Given the description of an element on the screen output the (x, y) to click on. 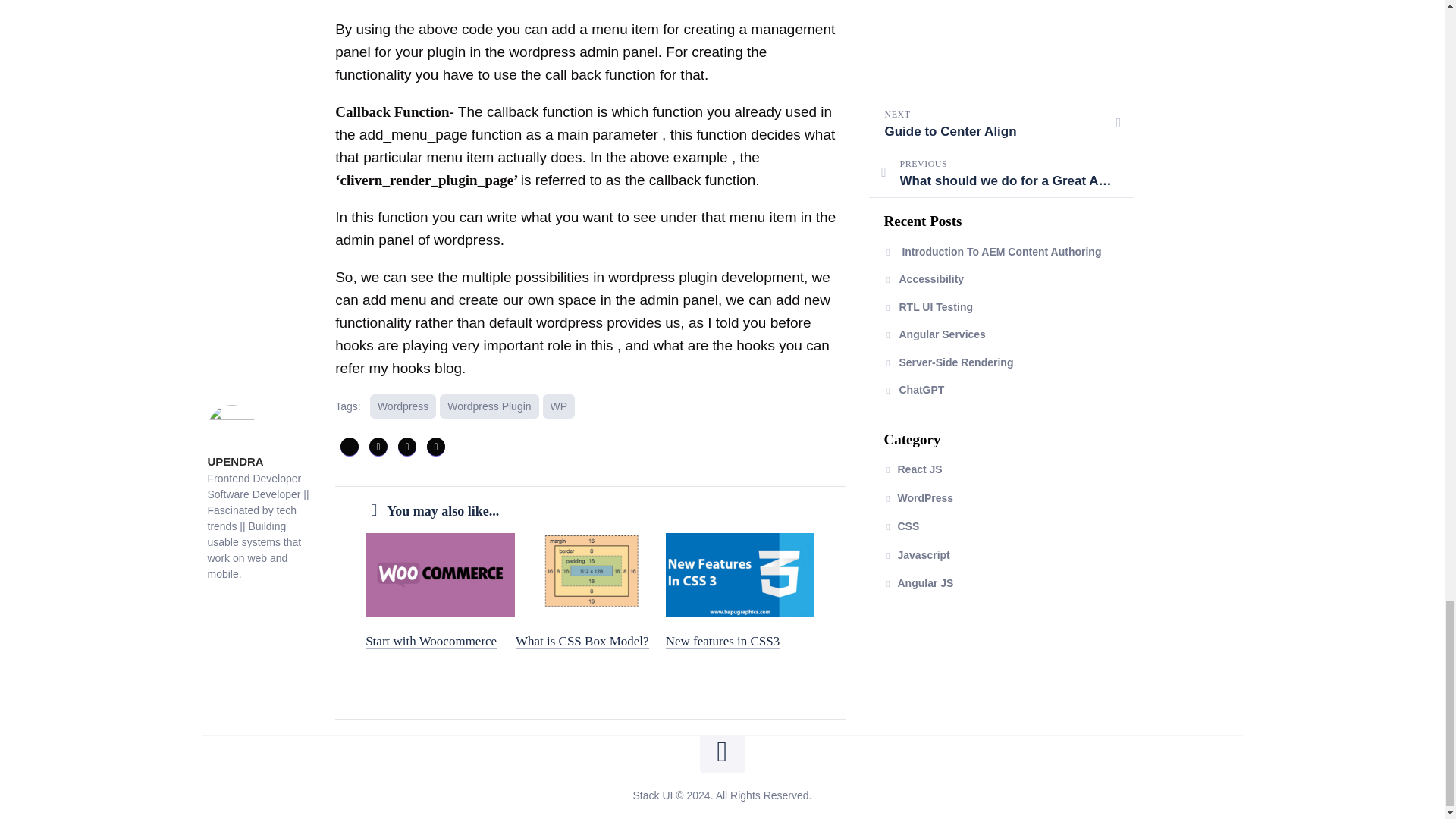
Wordpress Plugin (488, 405)
WP (559, 405)
Share on X (349, 446)
What is CSS Box Model? (582, 640)
New features in CSS3 (722, 640)
Wordpress (402, 405)
Start with Woocommerce (430, 640)
Share on Facebook (378, 446)
Share on Pinterest (406, 446)
Share on LinkedIn (435, 446)
